Given the description of an element on the screen output the (x, y) to click on. 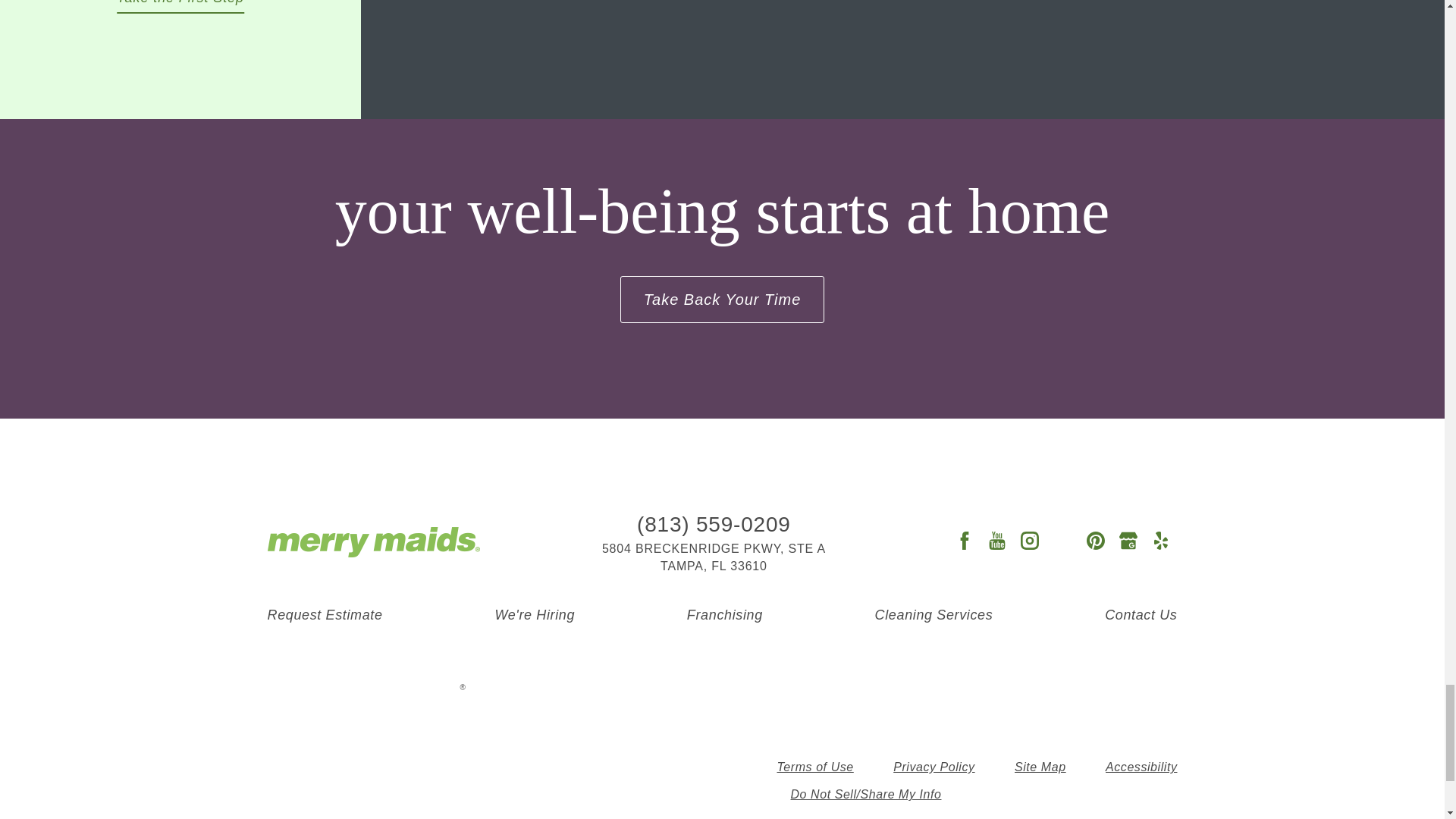
twitter (1062, 541)
yelp (1160, 541)
Google My Business (1128, 541)
youtube-3 (996, 541)
Merry Maids (372, 542)
pinterest (1095, 541)
facebook (963, 541)
instagram (1029, 541)
